Given the description of an element on the screen output the (x, y) to click on. 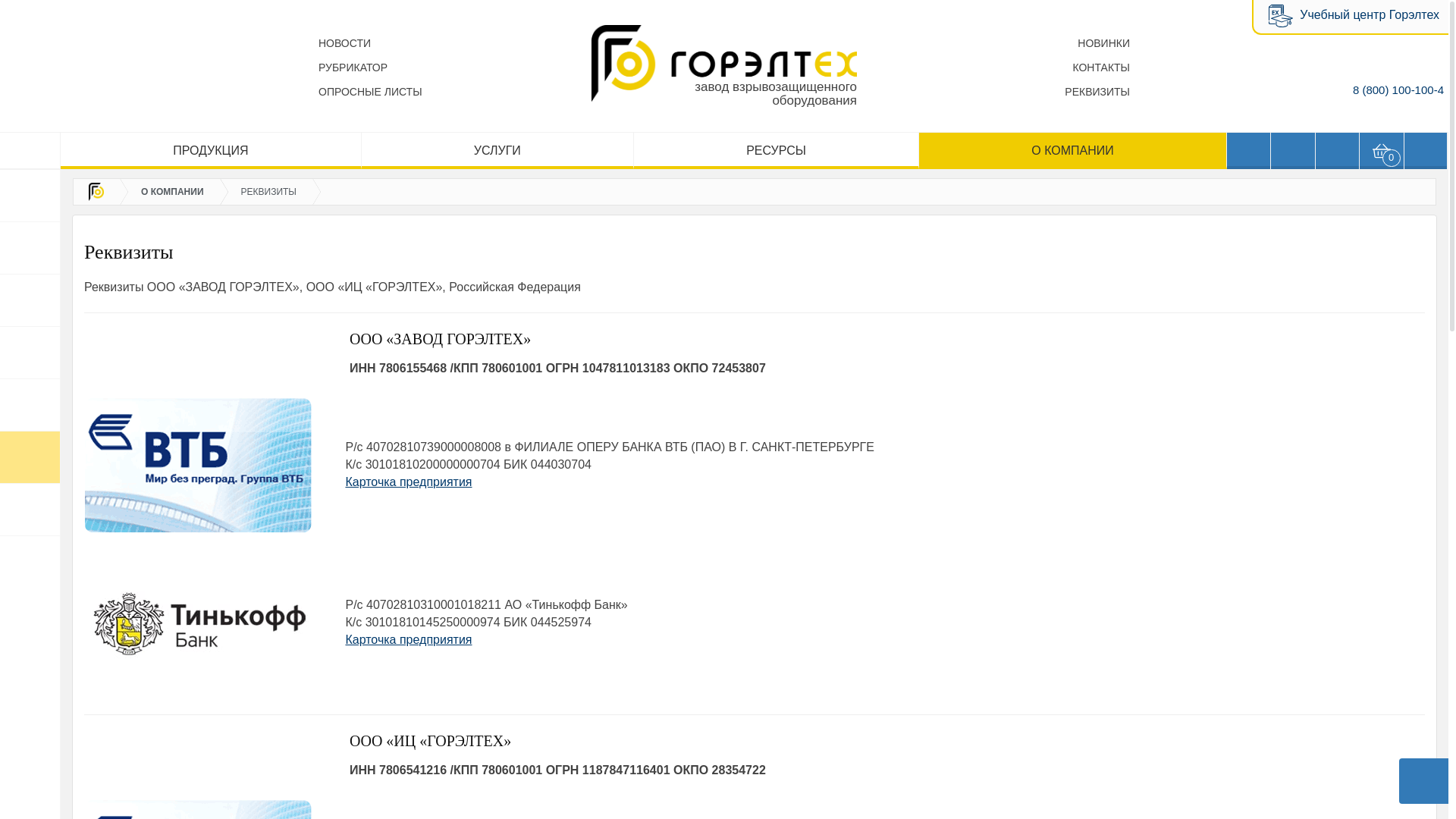
8 (800) 100-100-4 Element type: text (1397, 89)
0 Element type: text (1381, 150)
